Given the description of an element on the screen output the (x, y) to click on. 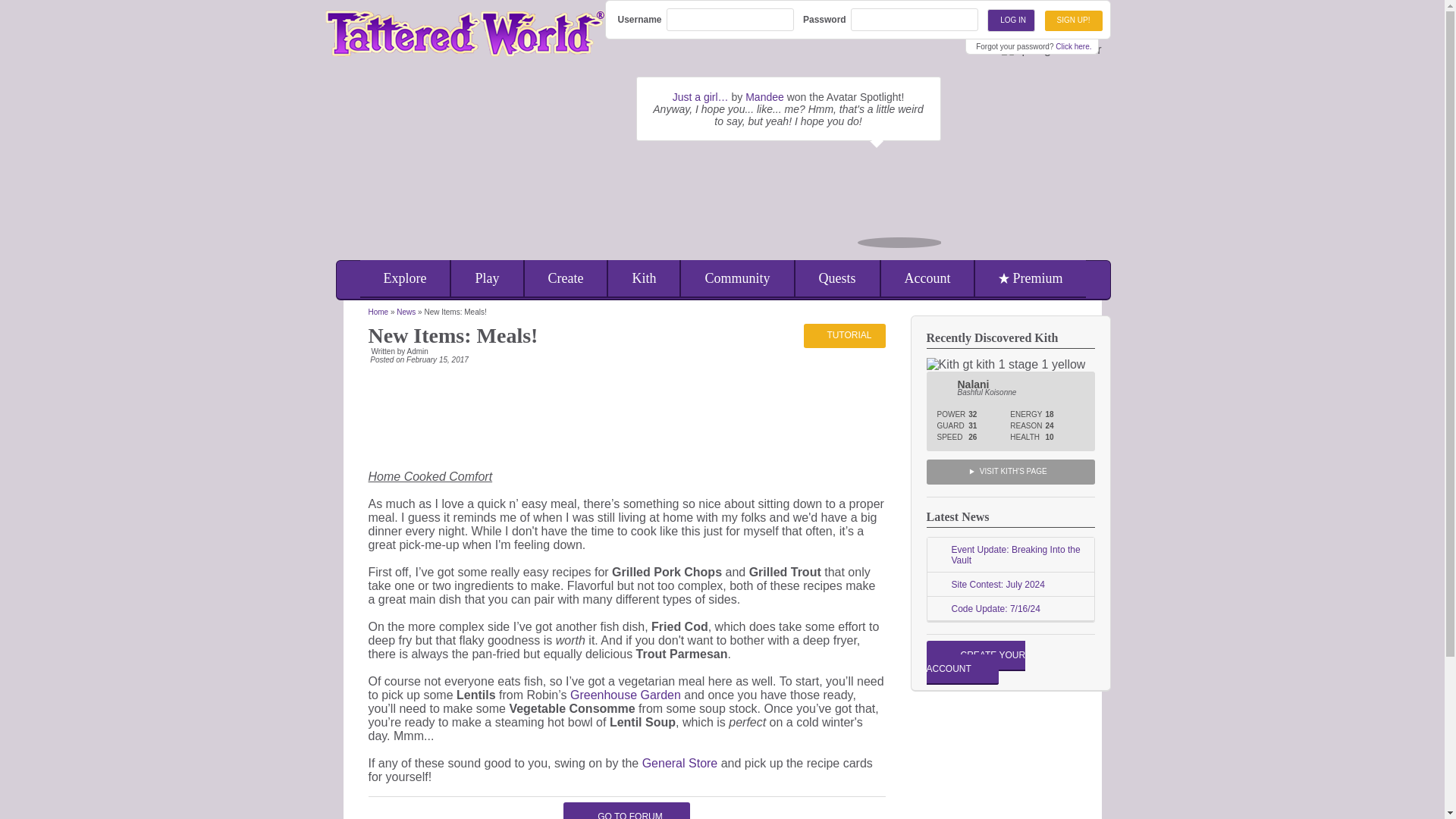
Log in (1011, 20)
